Given the description of an element on the screen output the (x, y) to click on. 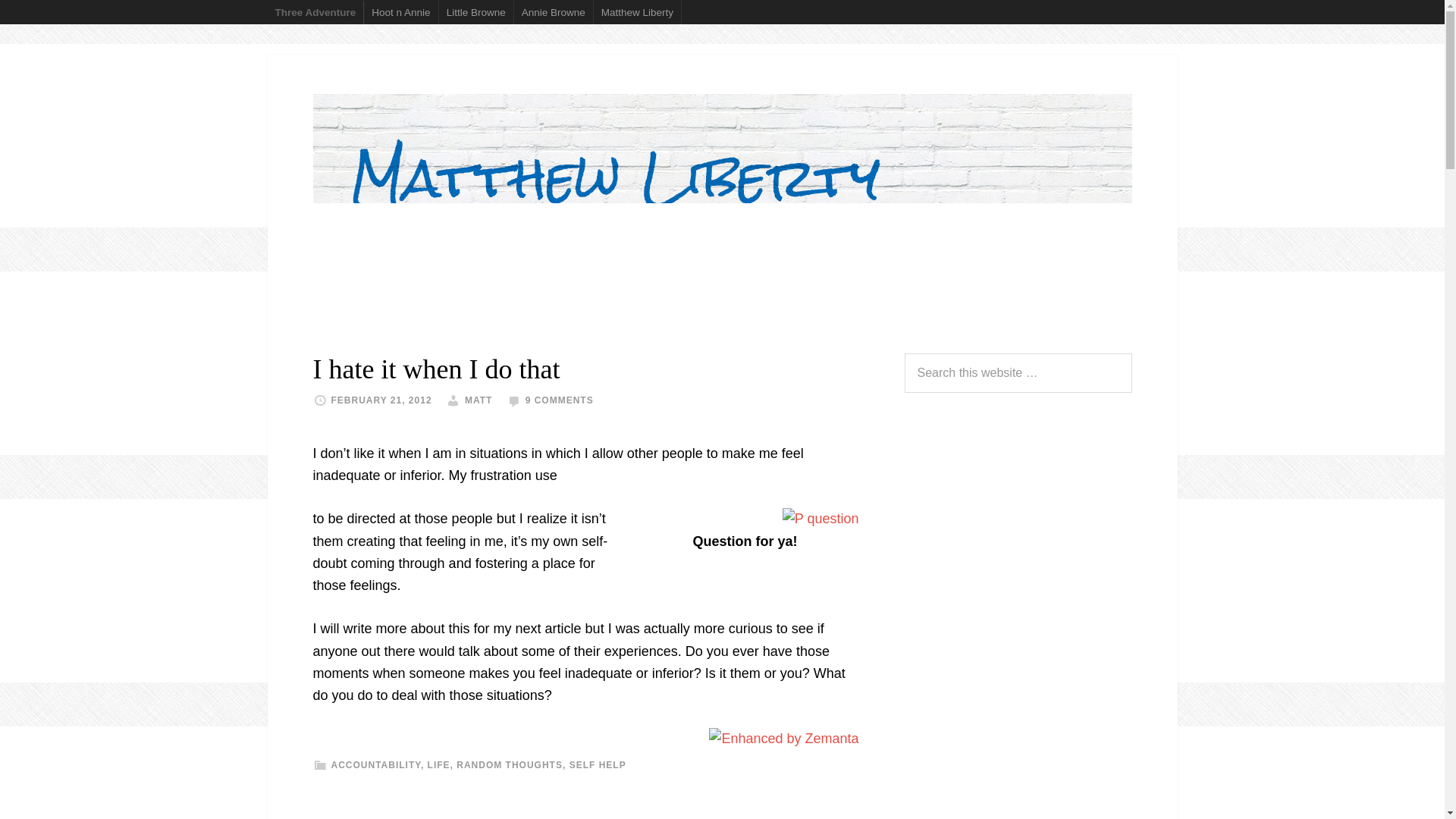
Matthew Liberty (637, 12)
RANDOM THOUGHTS (509, 765)
SELF HELP (597, 765)
P question (821, 518)
Little Browne (476, 12)
Annie Browne (553, 12)
Three Adventure (315, 12)
